Given the description of an element on the screen output the (x, y) to click on. 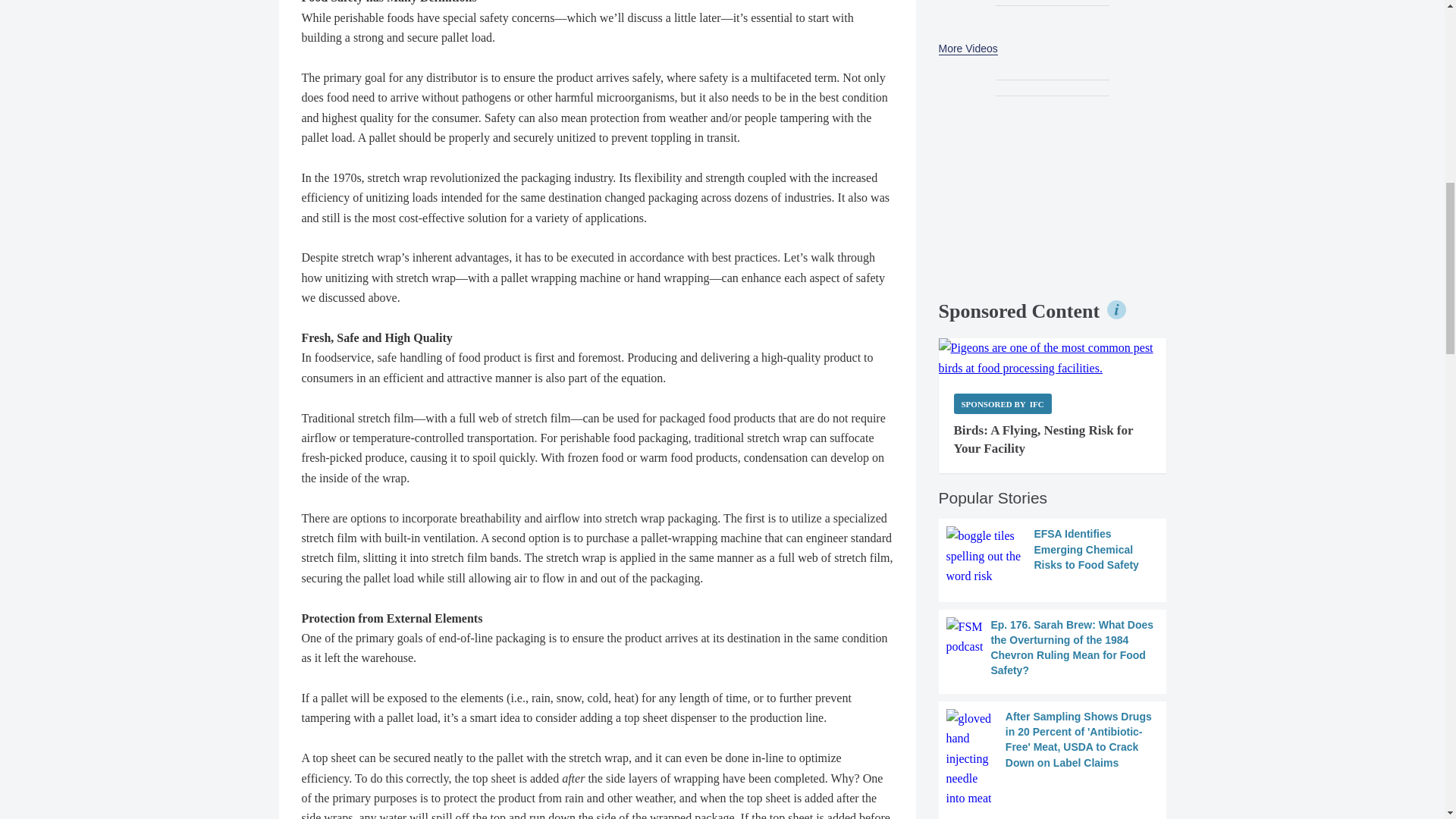
Sponsored by IFC (1002, 403)
EFSA Identifies Emerging Chemical Risks to Food Safety  (1052, 556)
